Given the description of an element on the screen output the (x, y) to click on. 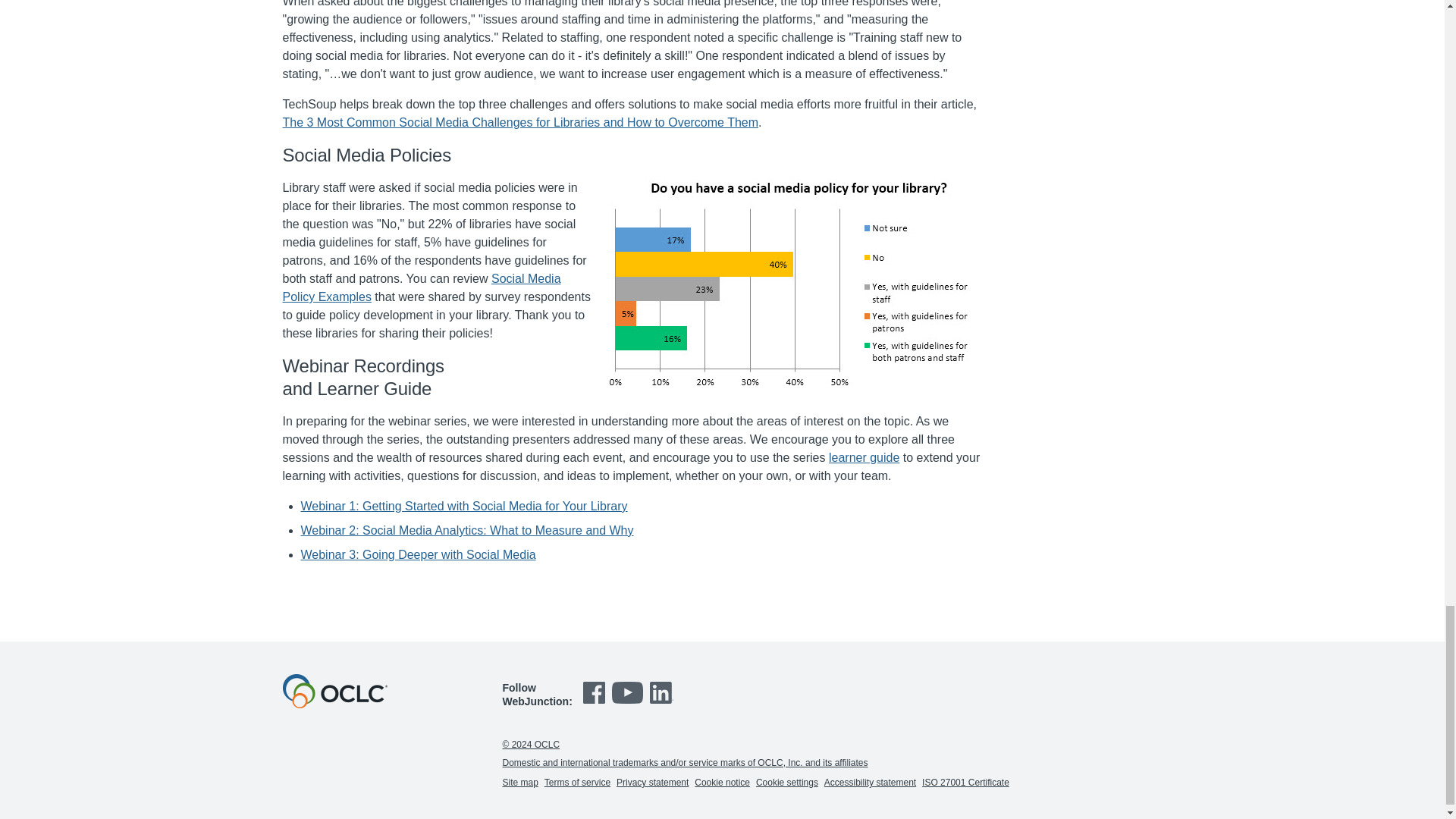
learner guide (863, 457)
Like WebJunction on Facebook (595, 703)
Social Media Policy Examples (421, 287)
Visit oclc.org (334, 704)
Webinar 2: Social Media Analytics: What to Measure and Why (466, 530)
Watch WebJunction videos on YouTube (628, 703)
Site map (519, 782)
Webinar 3: Going Deeper with Social Media (417, 554)
